Given the description of an element on the screen output the (x, y) to click on. 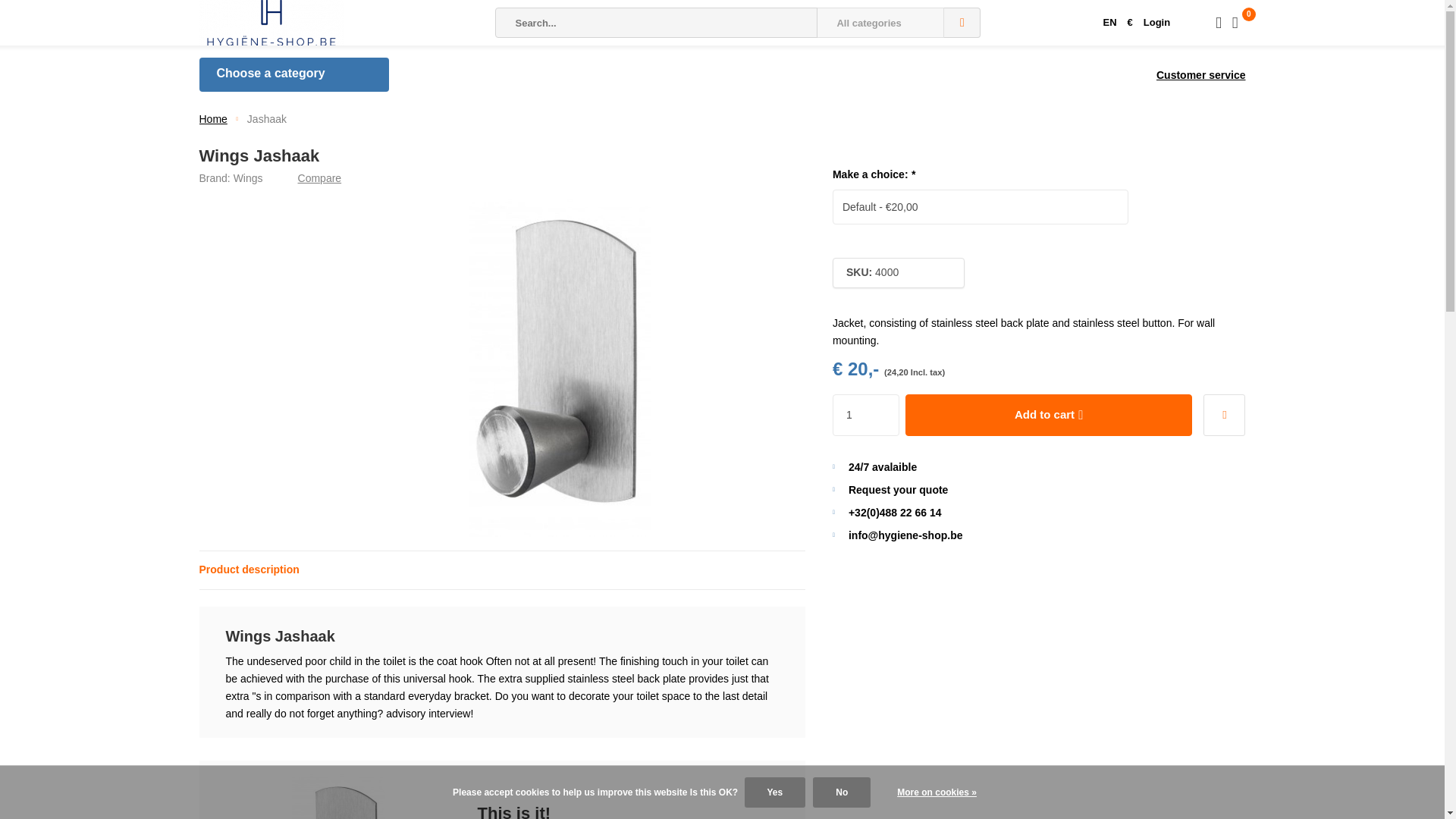
Search (961, 22)
Search (961, 22)
